Given the description of an element on the screen output the (x, y) to click on. 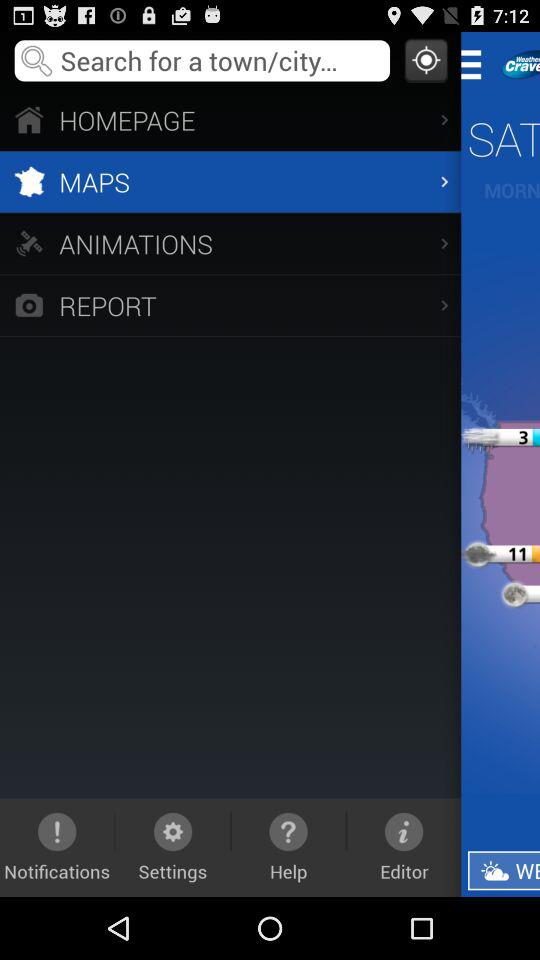
press the notifications app (57, 847)
